Given the description of an element on the screen output the (x, y) to click on. 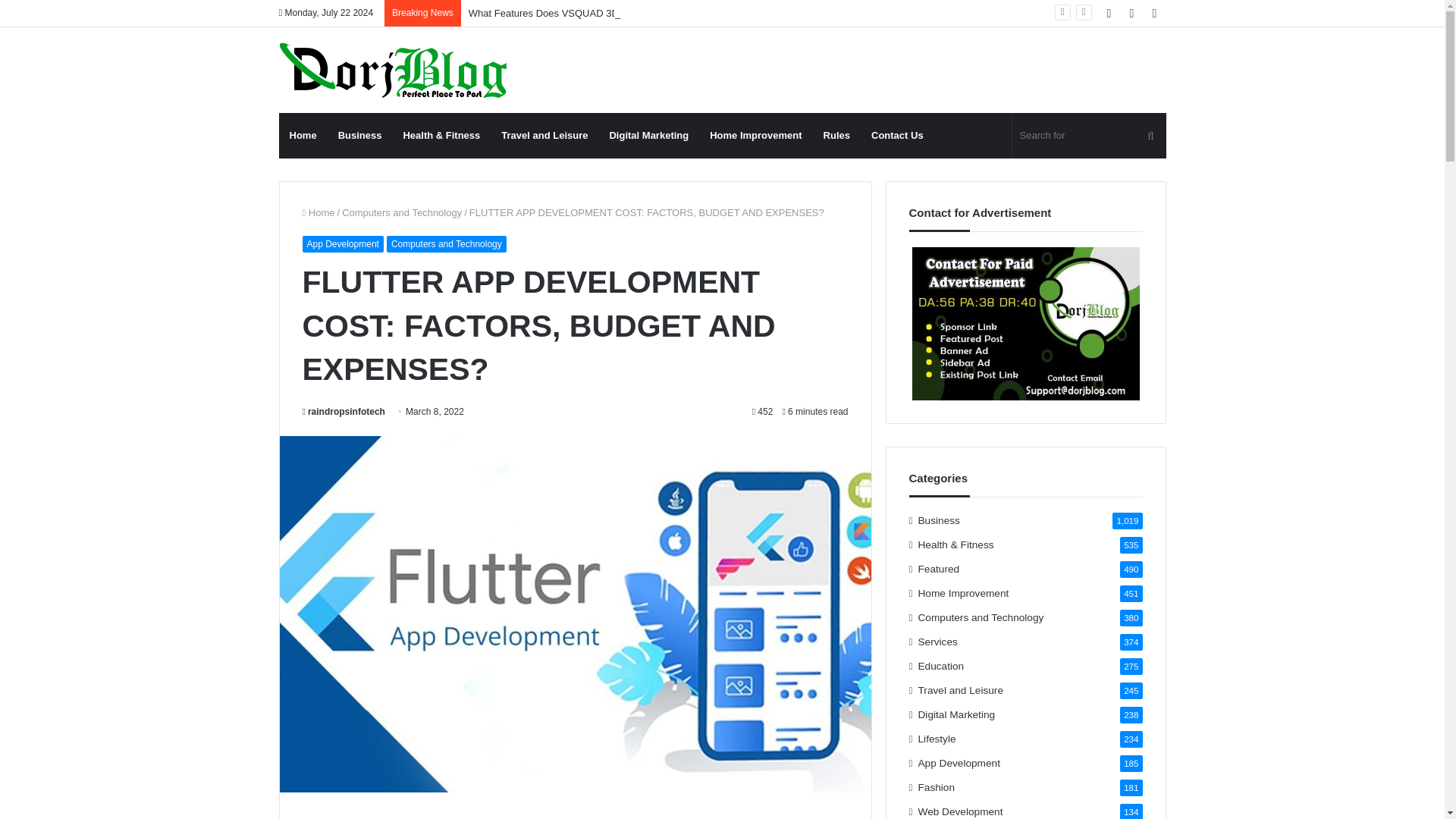
Contact Us (897, 135)
Home (303, 135)
App Development (341, 243)
Home Improvement (755, 135)
Business (360, 135)
Travel and Leisure (544, 135)
Rules (836, 135)
Computers and Technology (446, 243)
Search for (1088, 135)
Computers and Technology (401, 212)
What Features Does VSQUAD 3D Character Creator Offer? (599, 12)
Home (317, 212)
Dorj Blog (392, 69)
raindropsinfotech (342, 411)
